Given the description of an element on the screen output the (x, y) to click on. 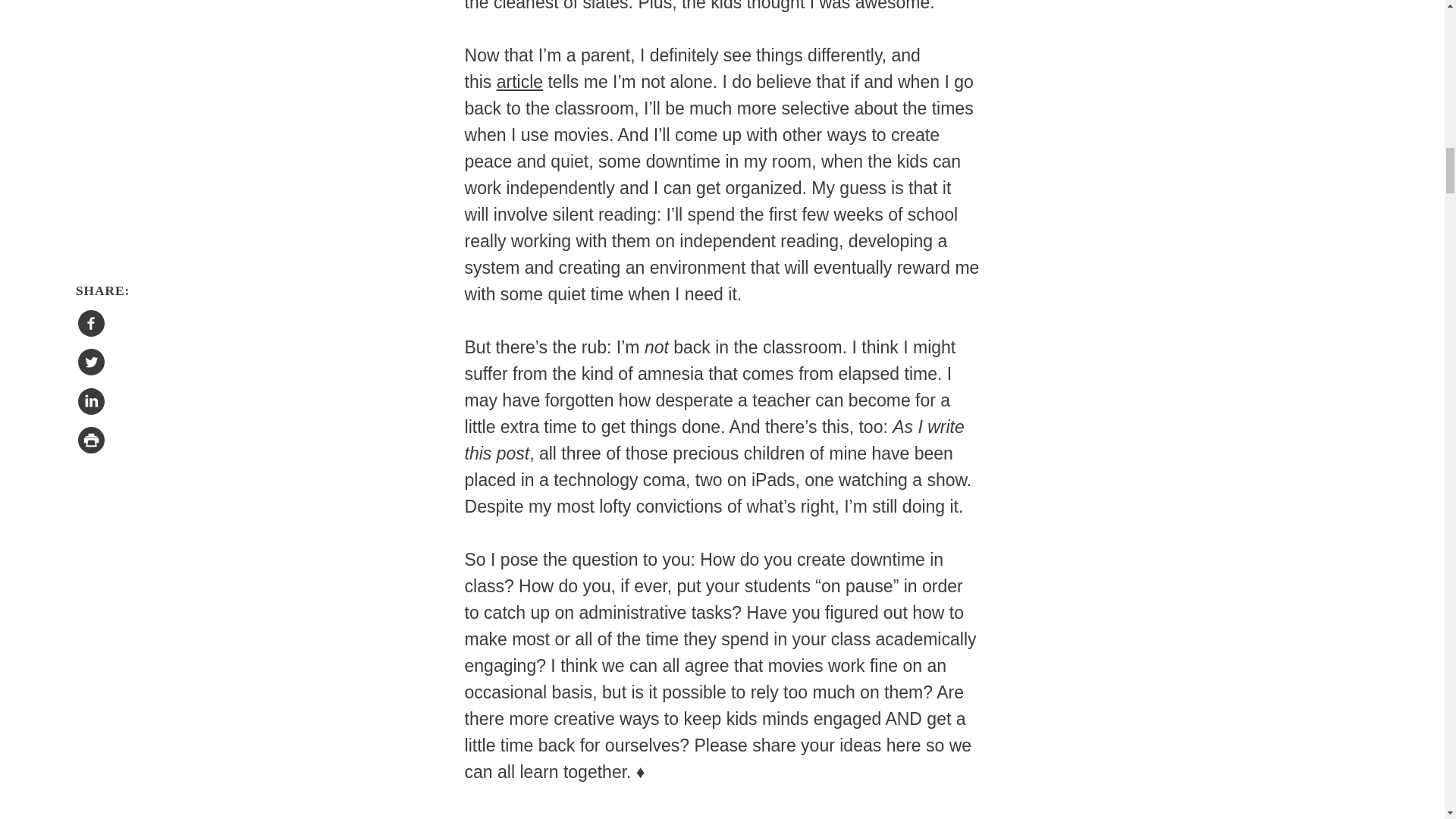
Parents, teachers clash over movies in class (519, 81)
article (519, 81)
